Given the description of an element on the screen output the (x, y) to click on. 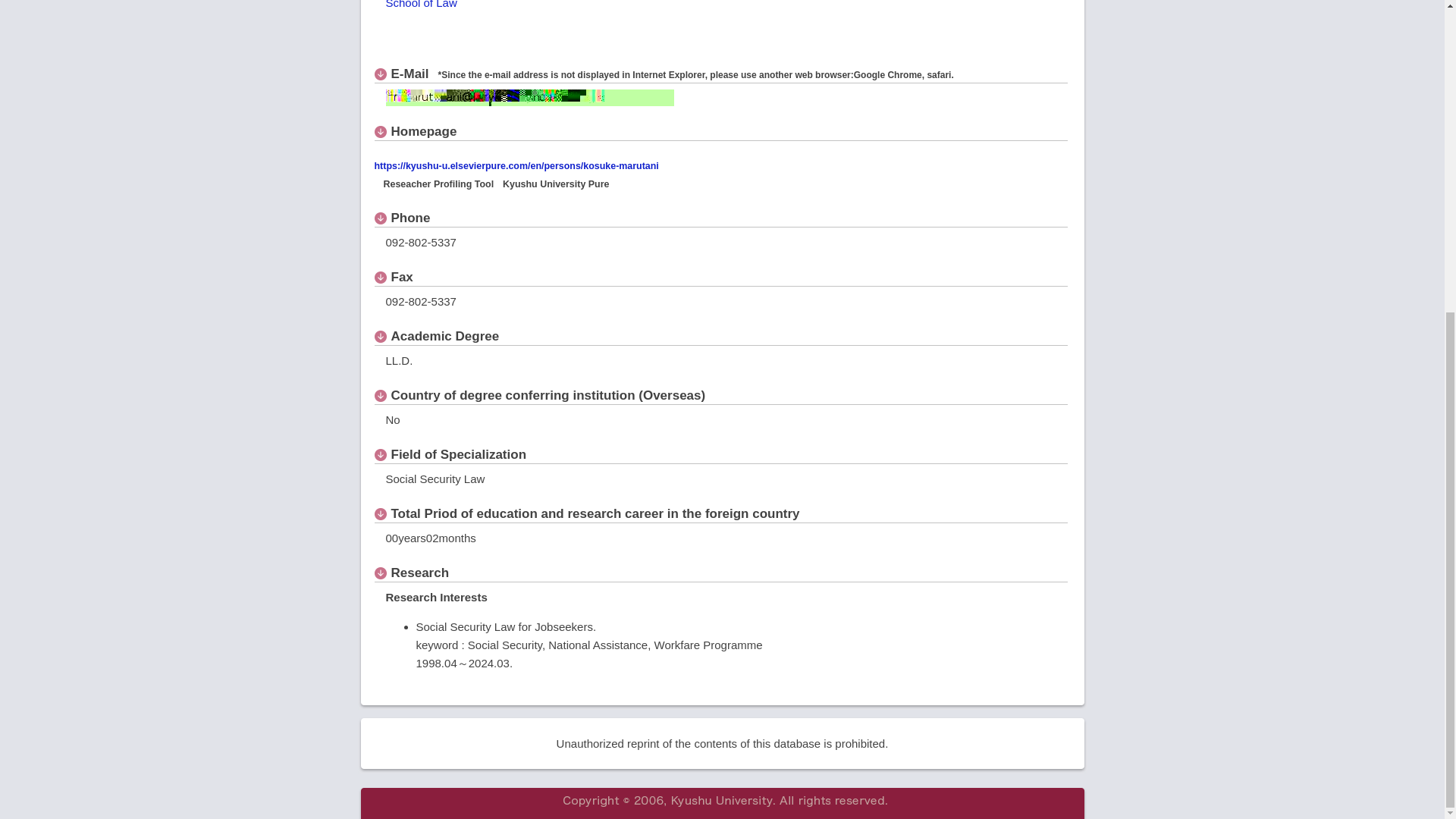
School of Law (421, 4)
